Given the description of an element on the screen output the (x, y) to click on. 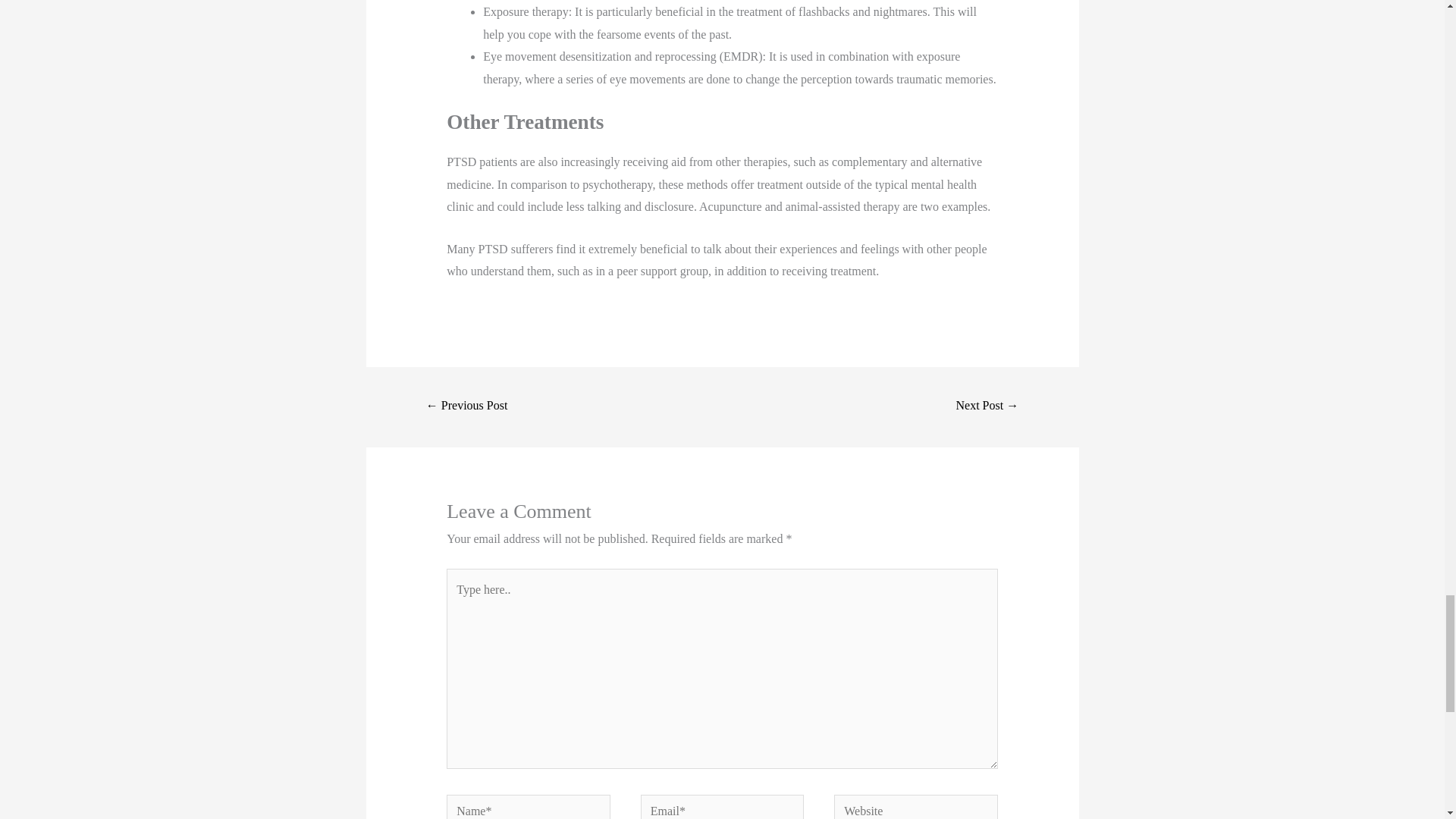
Psychological Thrillers and why are They so Intriguing? (986, 406)
NON-LETHAL FORMS OF SELF-HARM AND HOW THEY CAN BE DANGEROUS (466, 406)
